Given the description of an element on the screen output the (x, y) to click on. 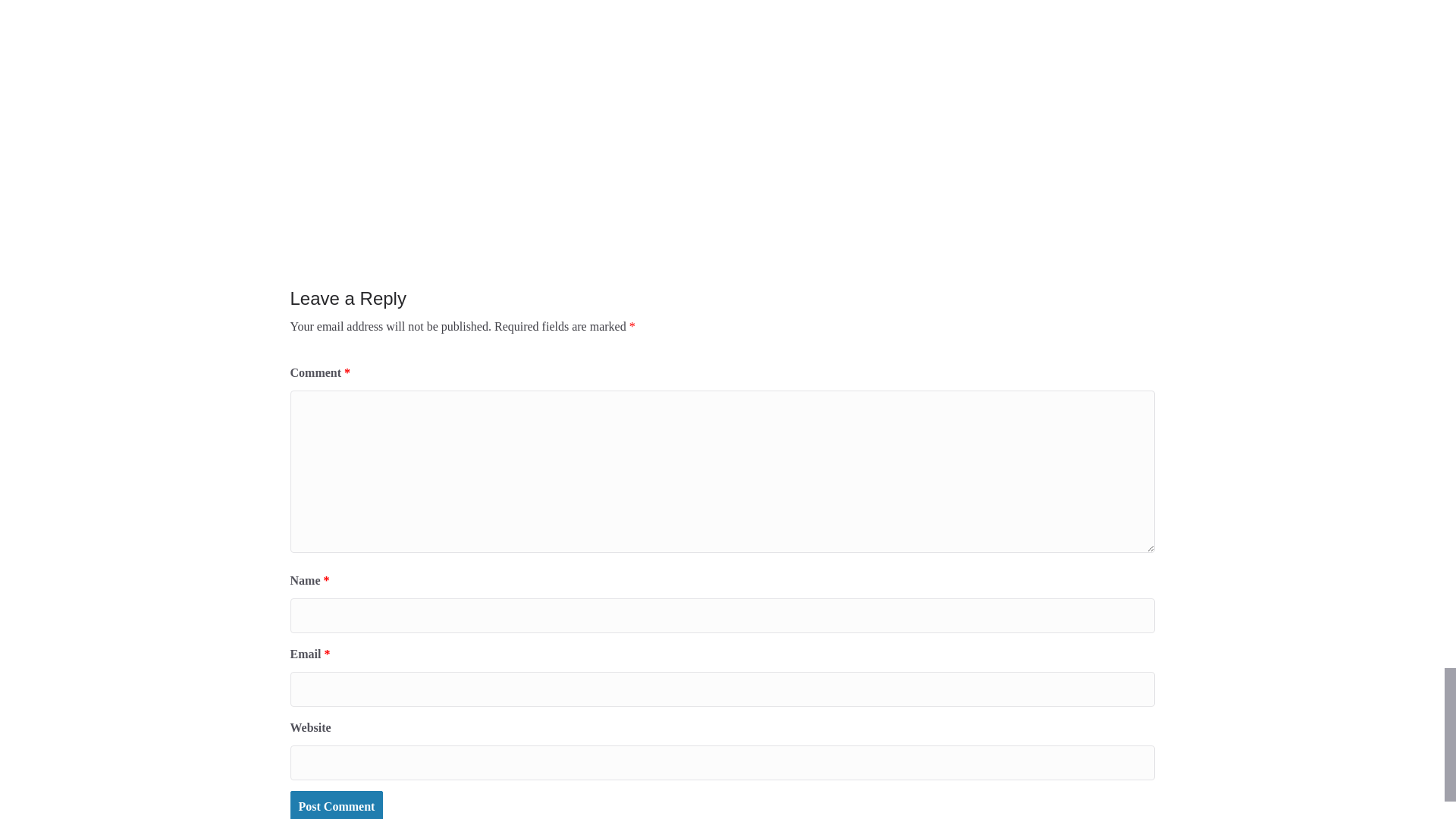
Post Comment (335, 805)
